Given the description of an element on the screen output the (x, y) to click on. 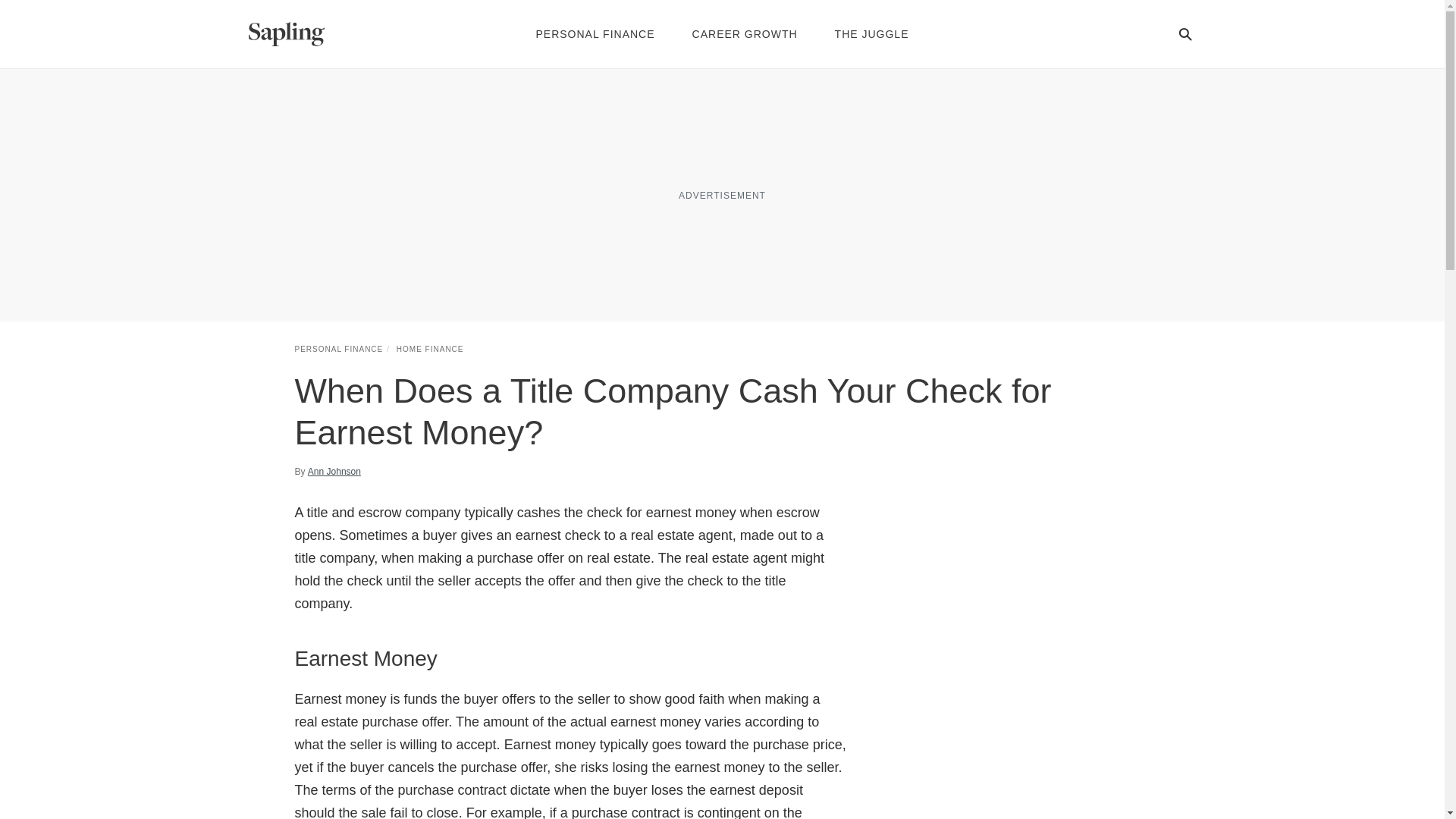
Ann Johnson (334, 471)
HOME FINANCE (430, 348)
PERSONAL FINANCE (338, 348)
